Given the description of an element on the screen output the (x, y) to click on. 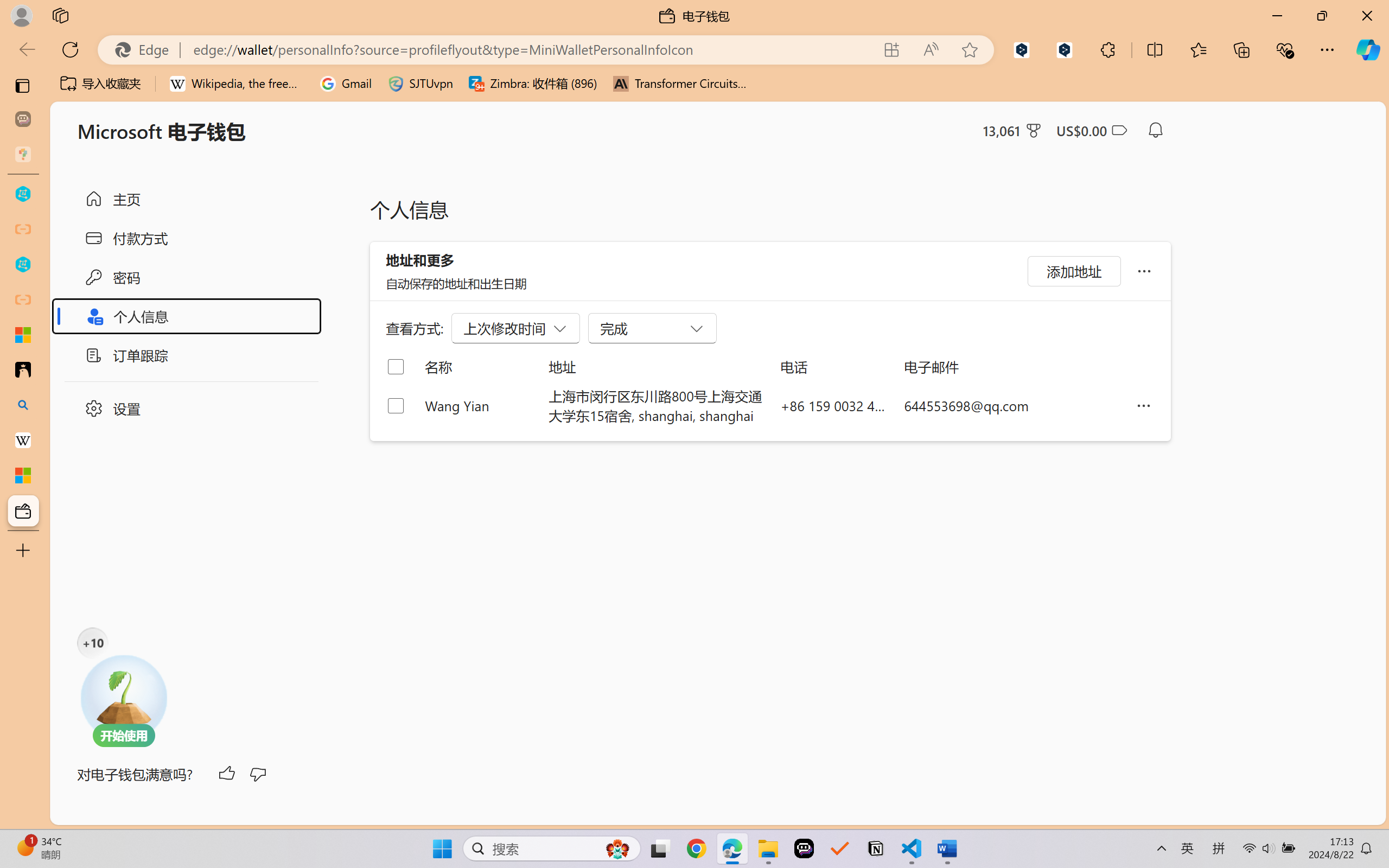
Edge (146, 49)
